Given the description of an element on the screen output the (x, y) to click on. 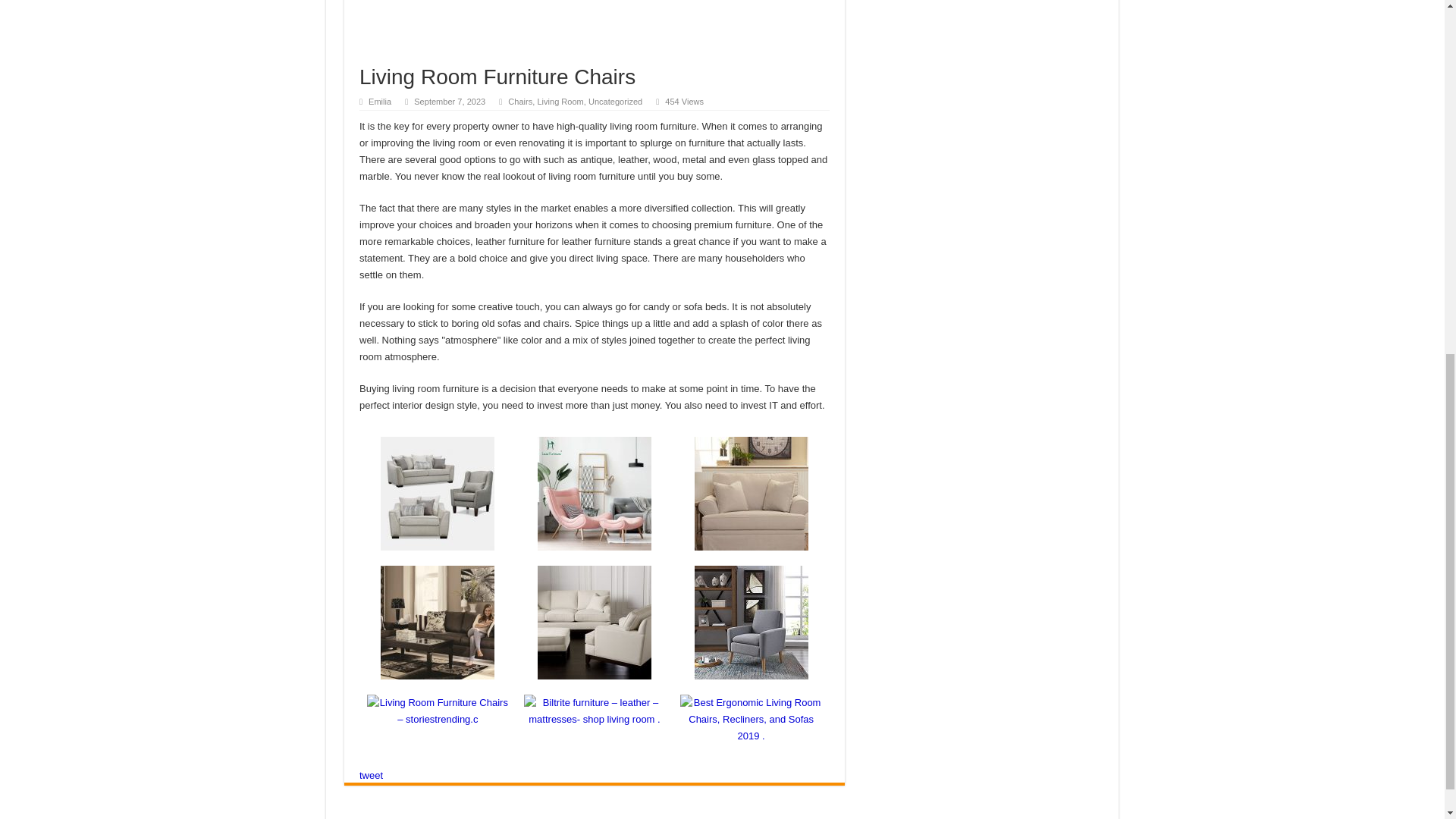
Emilia (379, 101)
tweet (370, 775)
Chairs (520, 101)
Uncategorized (615, 101)
Living Room (560, 101)
